Given the description of an element on the screen output the (x, y) to click on. 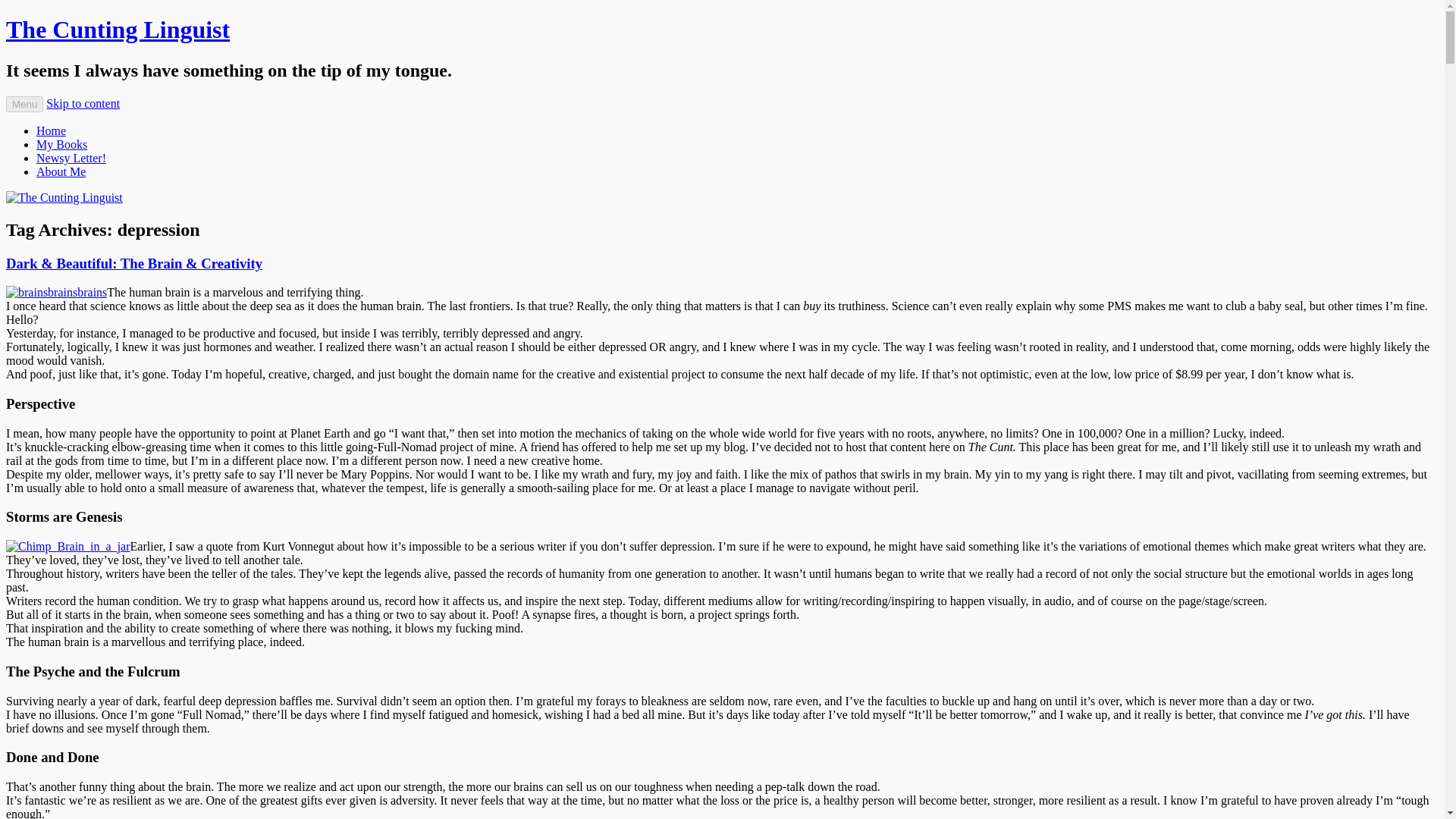
The Cunting Linguist (117, 29)
Skip to content (82, 103)
Skip to content (82, 103)
Home (50, 130)
My Books (61, 144)
Newsy Letter! (71, 157)
The Cunting Linguist (117, 29)
About Me (60, 171)
Menu (24, 104)
